Given the description of an element on the screen output the (x, y) to click on. 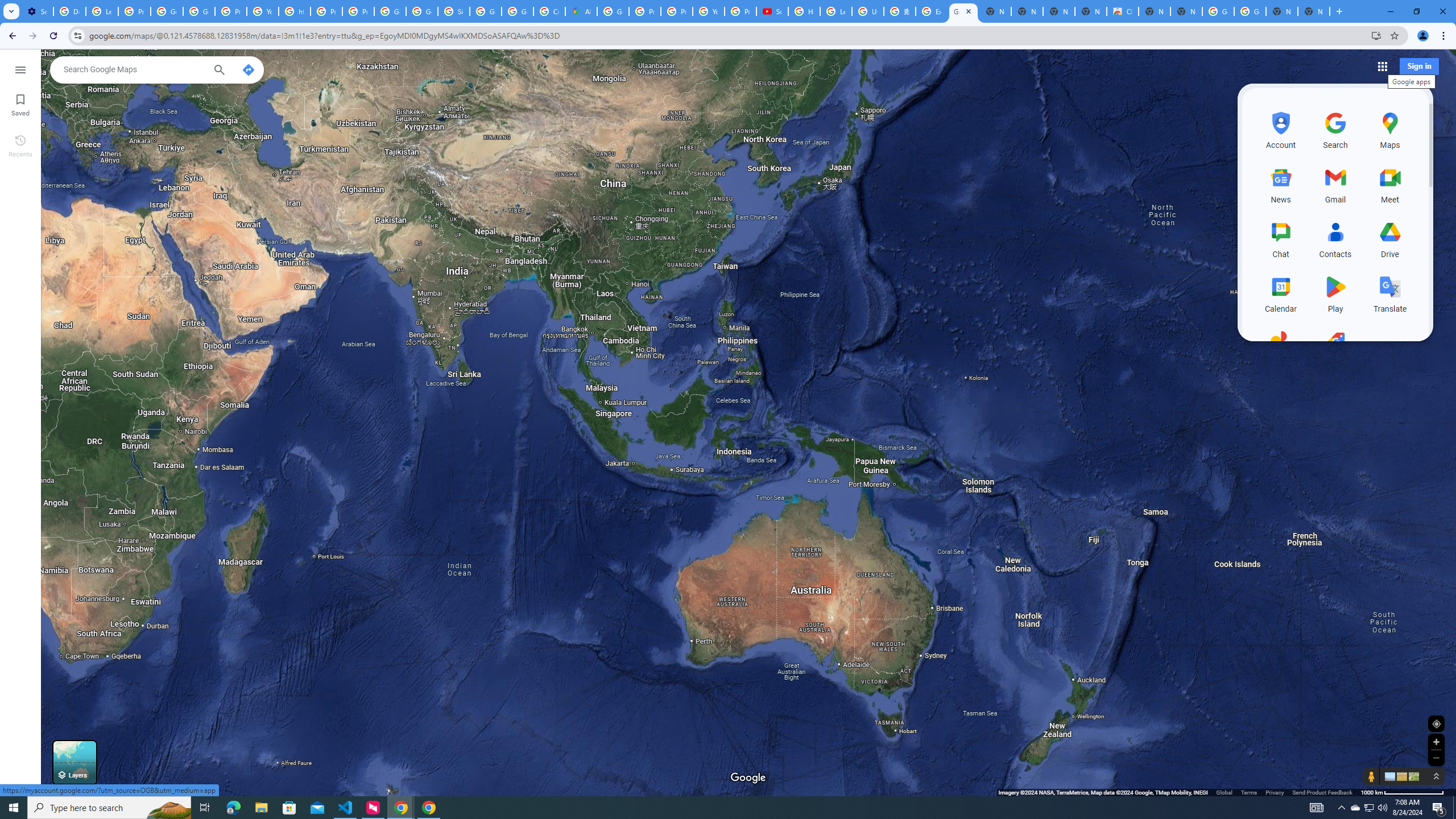
1000 km (1401, 792)
Global (1224, 792)
Settings - Performance (37, 11)
Learn how to find your photos - Google Photos Help (101, 11)
Search (218, 70)
Sign in - Google Accounts (453, 11)
